Given the description of an element on the screen output the (x, y) to click on. 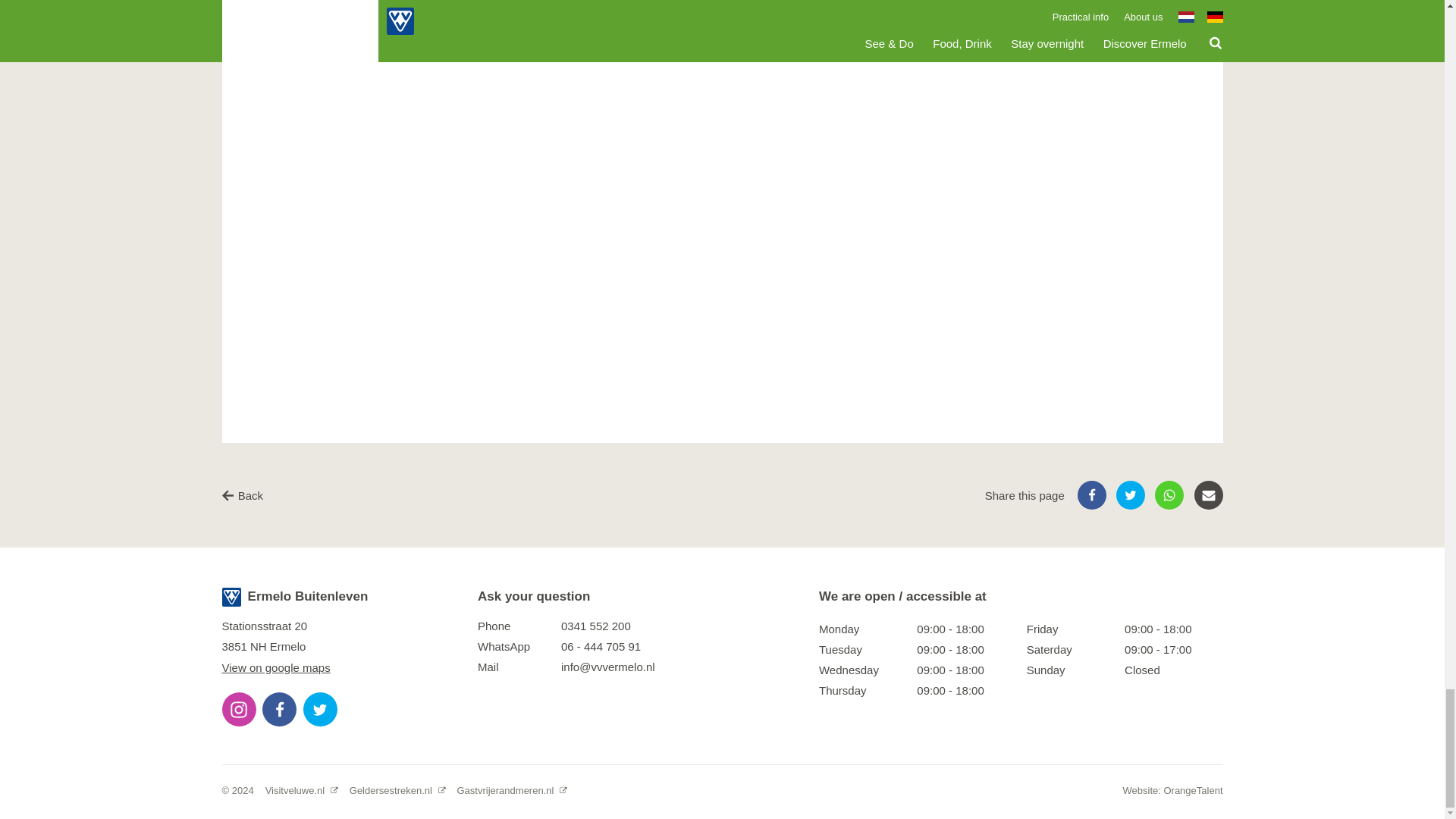
Share on Facebook (1091, 494)
Share on twitter (1130, 494)
